Given the description of an element on the screen output the (x, y) to click on. 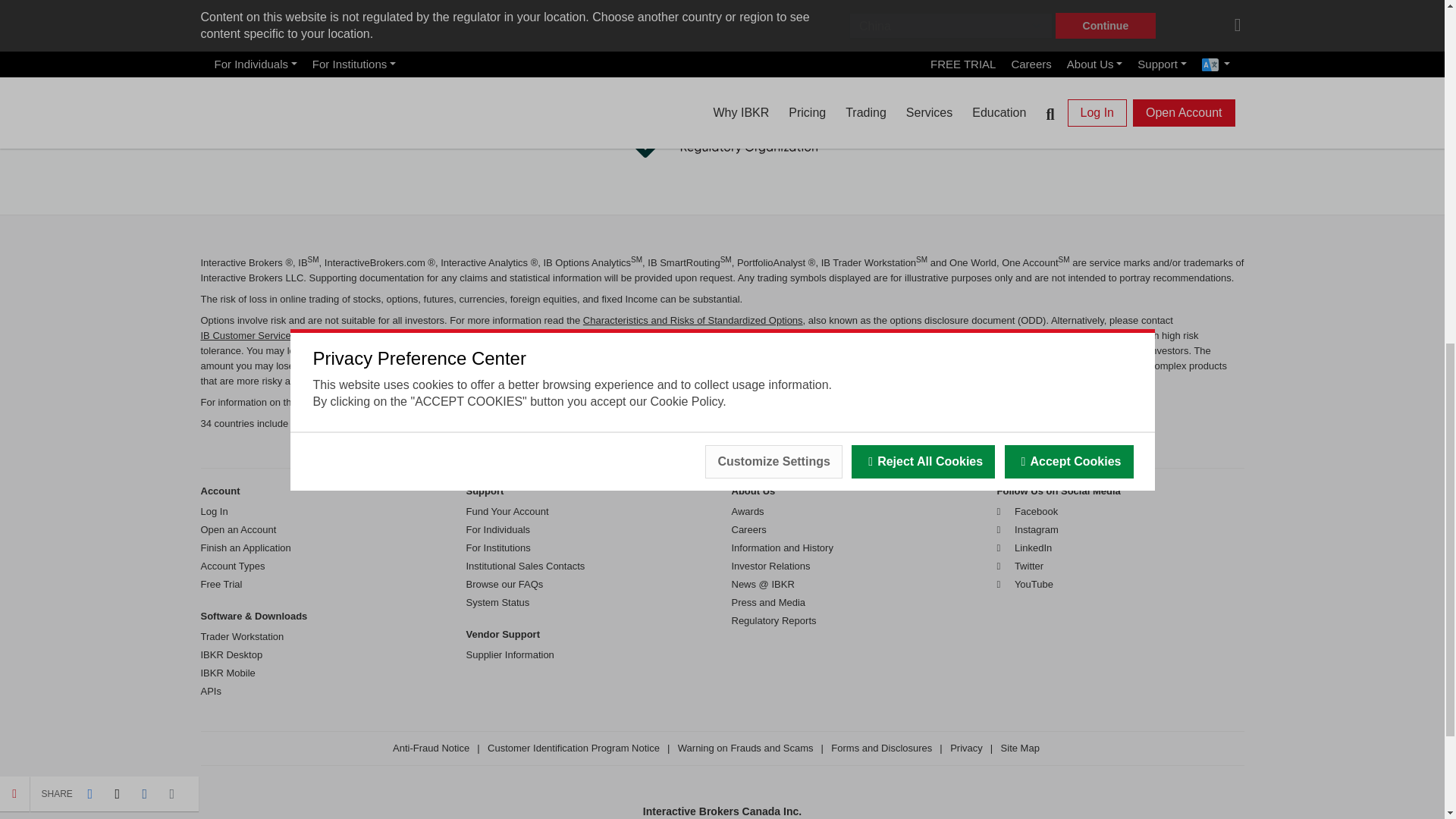
Share on Twitter (117, 99)
Share on Linkedin (144, 99)
Share by Email (172, 99)
Share on Facebook (90, 99)
